Given the description of an element on the screen output the (x, y) to click on. 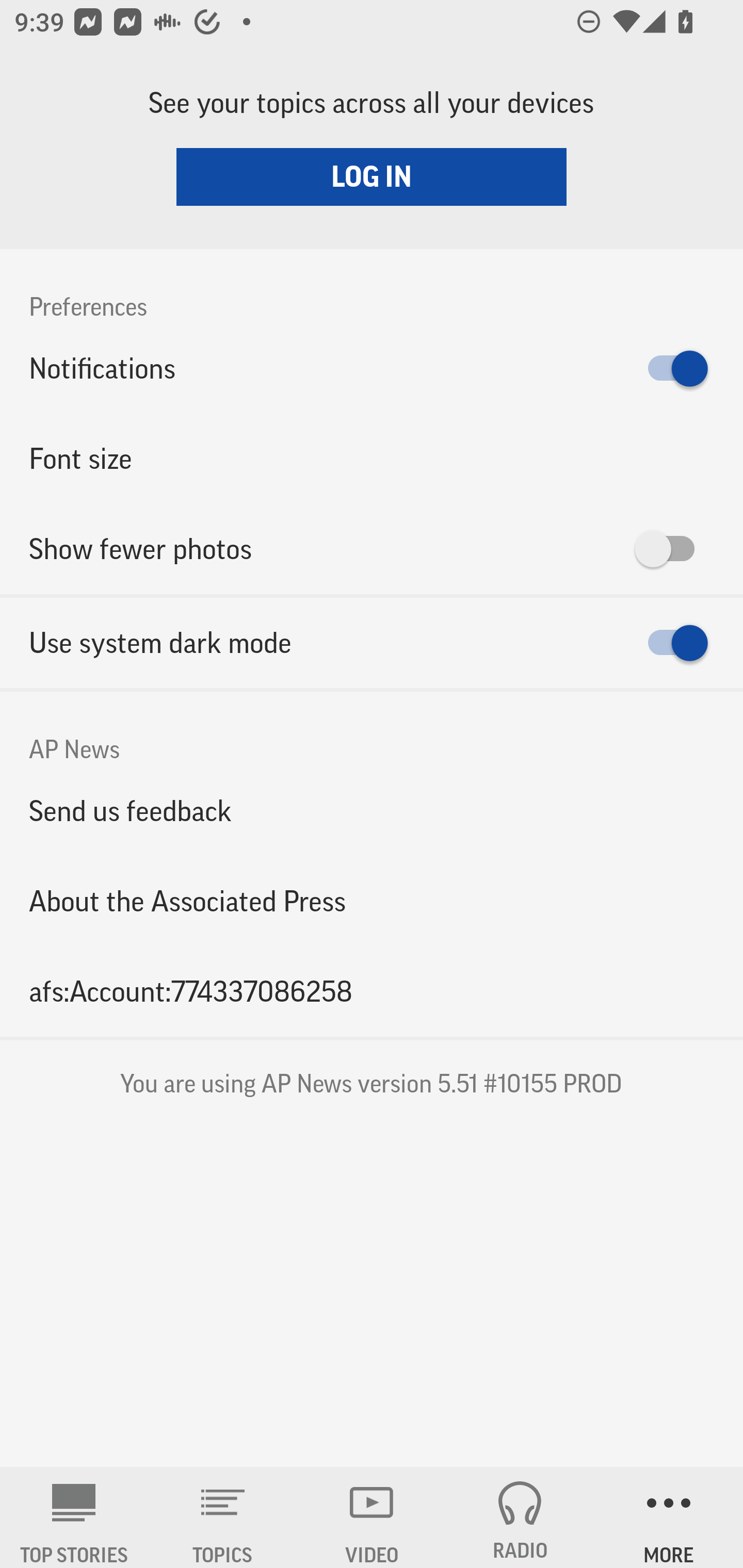
LOG IN (371, 176)
Notifications (371, 368)
Font size (371, 458)
Show fewer photos (371, 548)
Use system dark mode (371, 642)
Send us feedback (371, 810)
About the Associated Press (371, 901)
afs:Account:774337086258 (371, 991)
AP News TOP STORIES (74, 1517)
TOPICS (222, 1517)
VIDEO (371, 1517)
RADIO (519, 1517)
MORE (668, 1517)
